Given the description of an element on the screen output the (x, y) to click on. 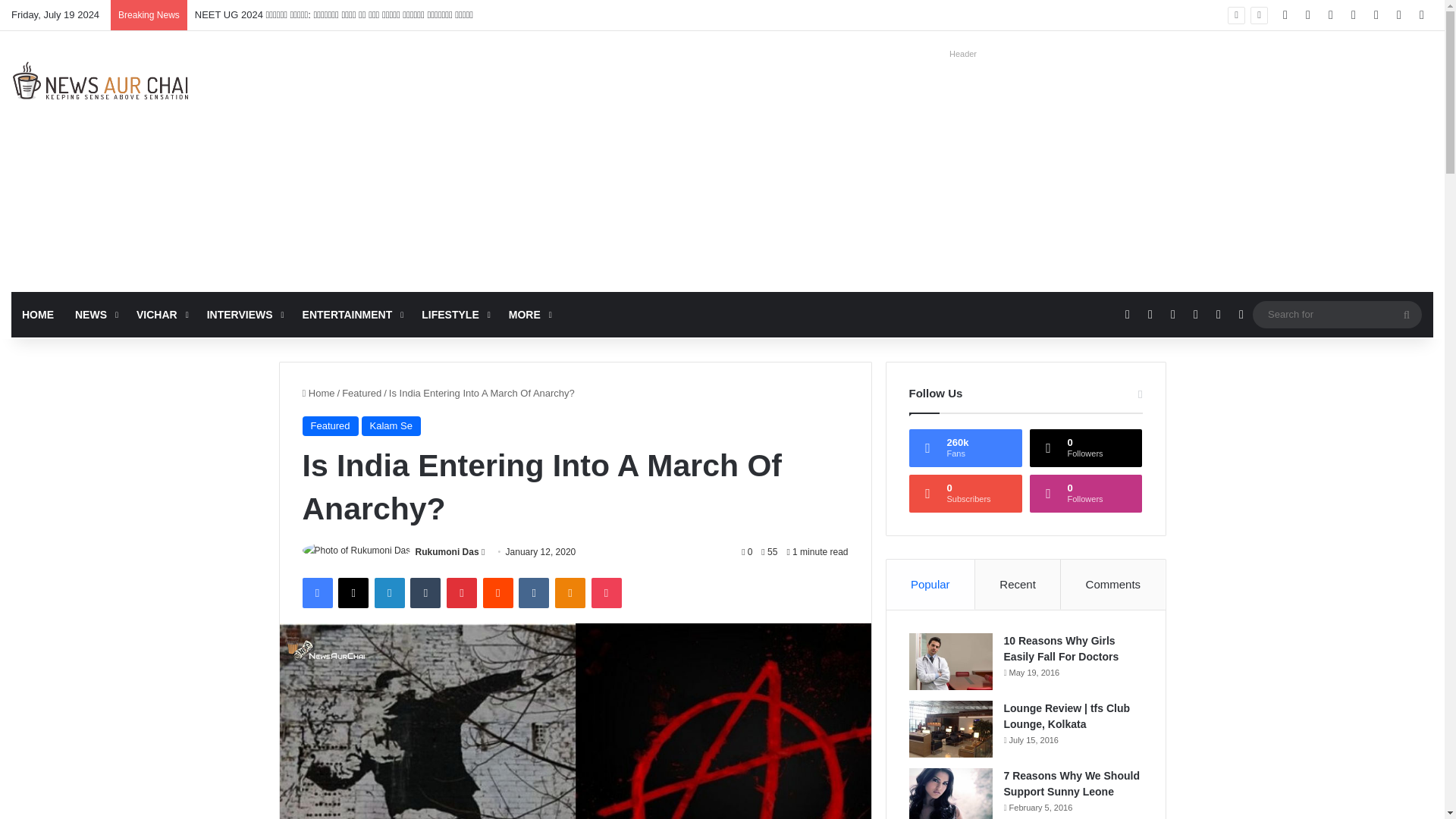
Random Article (1398, 15)
Facebook (316, 593)
VKontakte (533, 593)
Facebook (1285, 15)
Random Article (1218, 314)
Pinterest (461, 593)
Random Article (1398, 15)
INTERVIEWS (244, 314)
Search for (1337, 313)
Rukumoni Das (446, 552)
Tumblr (425, 593)
VICHAR (160, 314)
Odnoklassniki (569, 593)
